Given the description of an element on the screen output the (x, y) to click on. 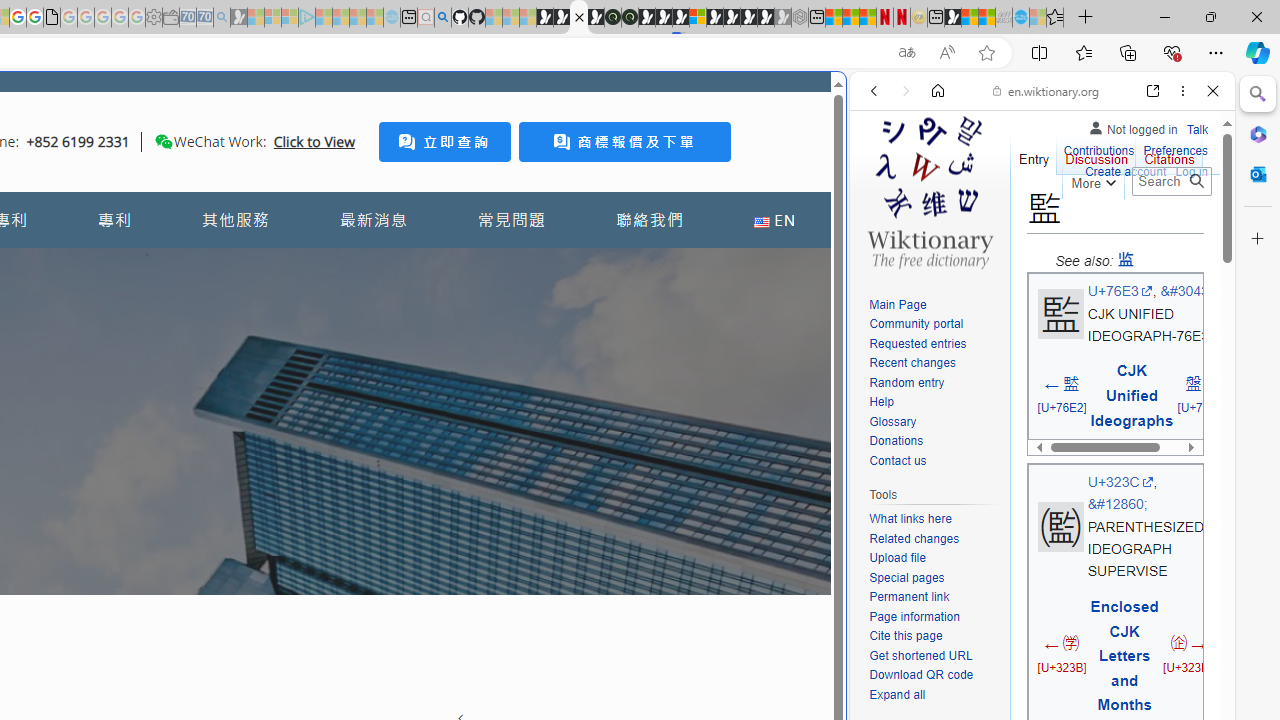
Close split screen (844, 102)
en.wiktionary.org (1046, 90)
&#12860; (1117, 504)
Go (1196, 181)
Talk (1197, 129)
